Given the description of an element on the screen output the (x, y) to click on. 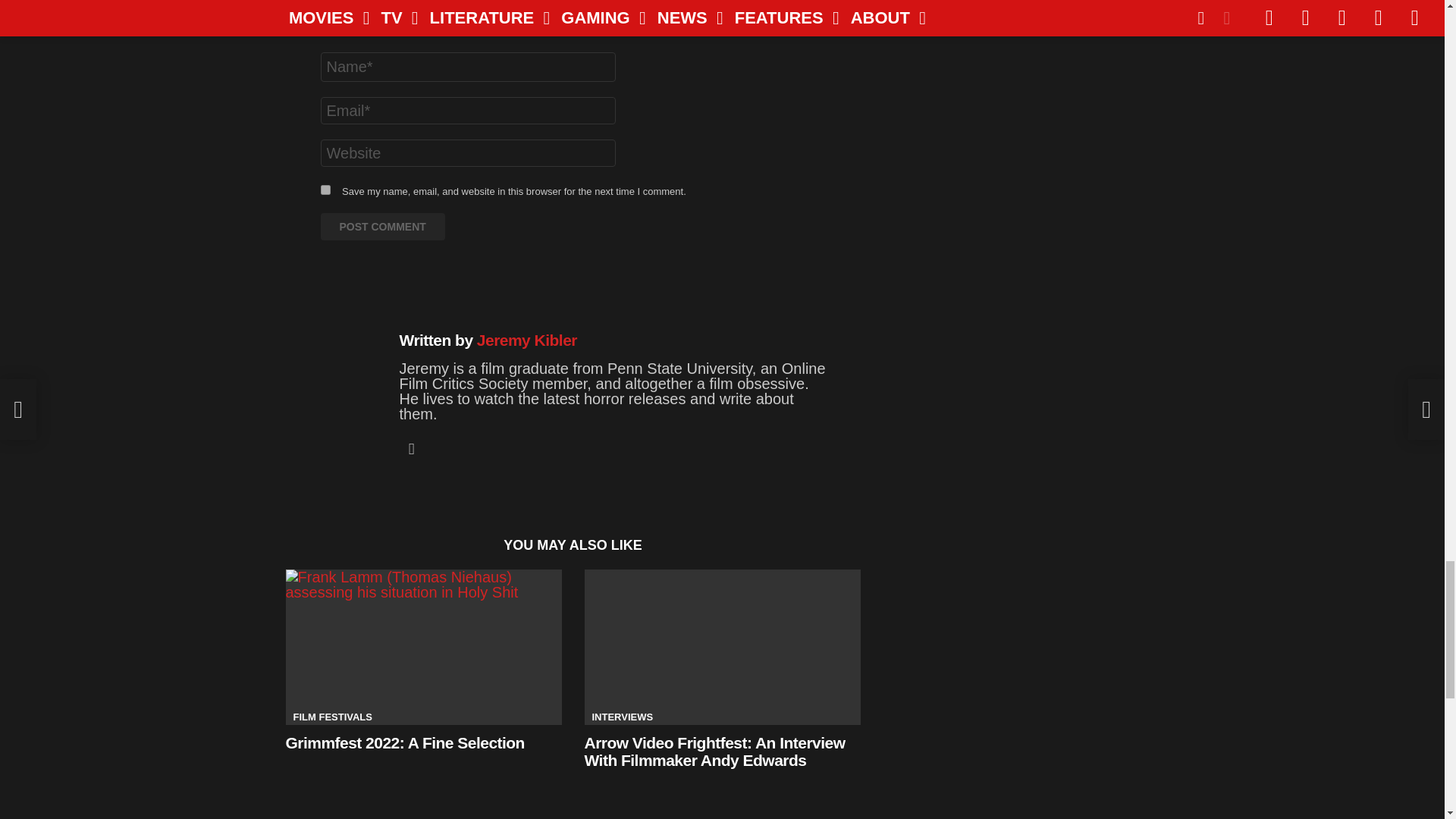
Grimmfest 2022: A Fine Selection (422, 646)
yes (325, 189)
Post Comment (382, 226)
